Given the description of an element on the screen output the (x, y) to click on. 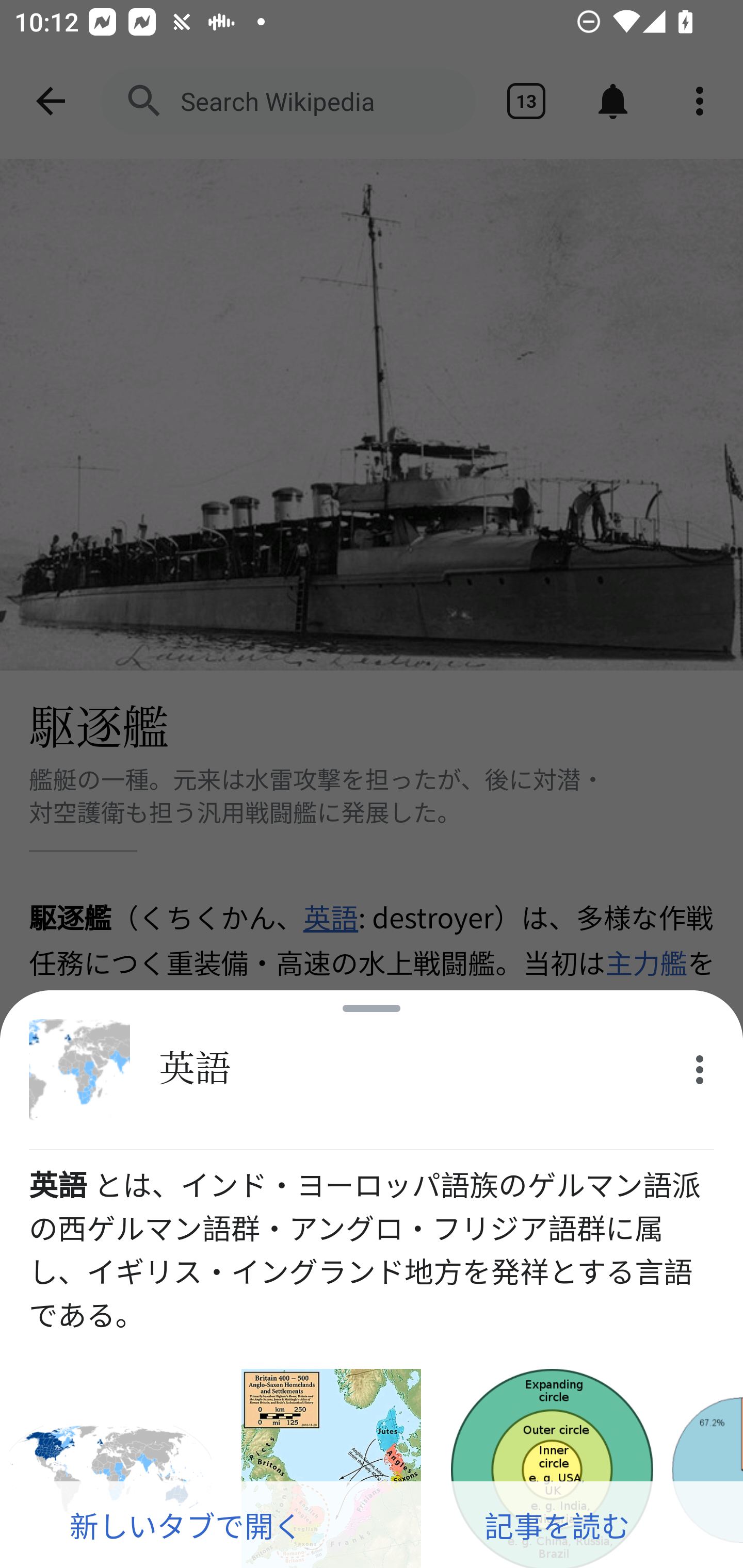
英語 More options (371, 1069)
More options (699, 1070)
新しいタブで開く (185, 1524)
記事を読む (557, 1524)
